Given the description of an element on the screen output the (x, y) to click on. 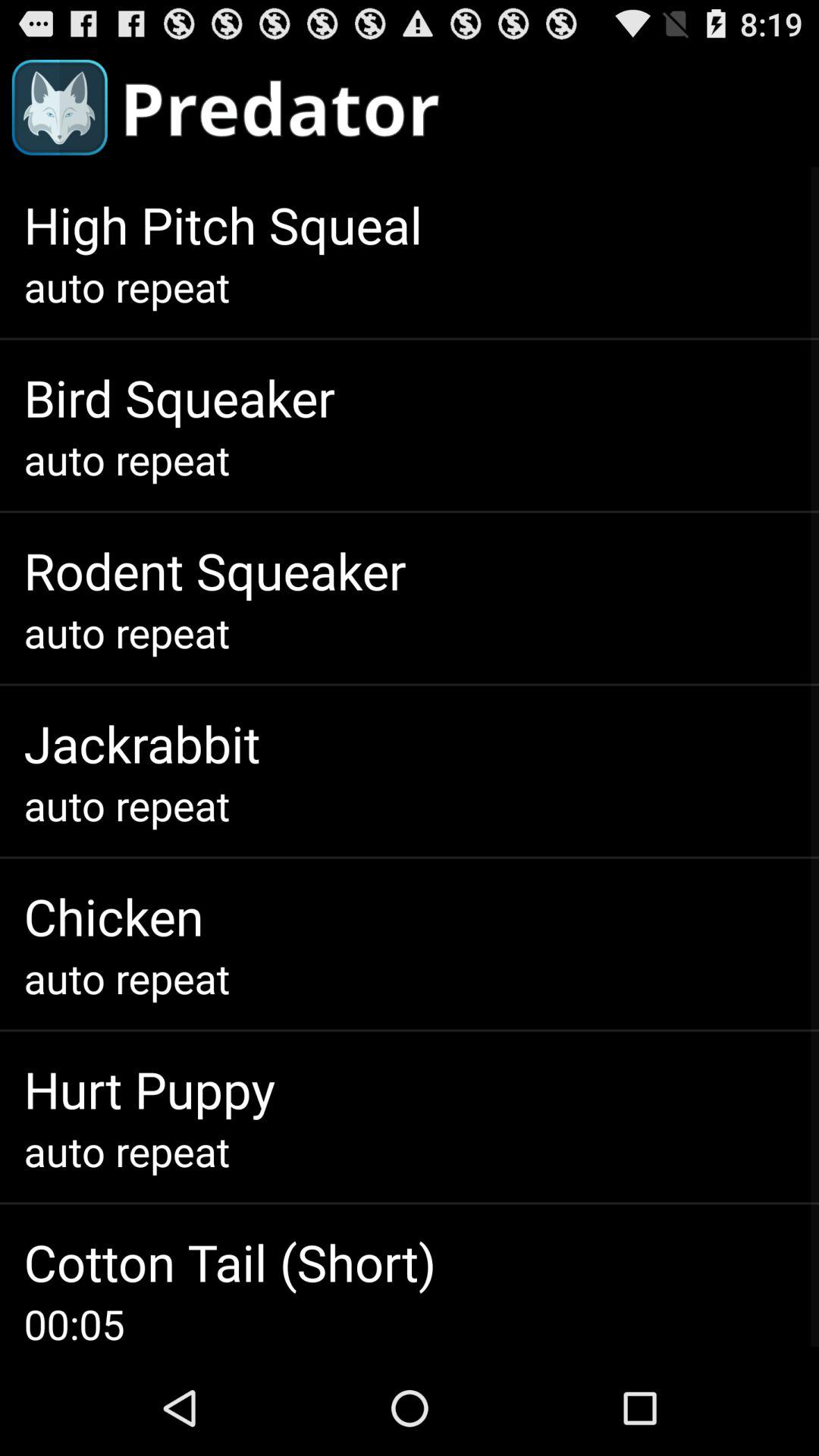
select item below the auto repeat item (214, 570)
